Given the description of an element on the screen output the (x, y) to click on. 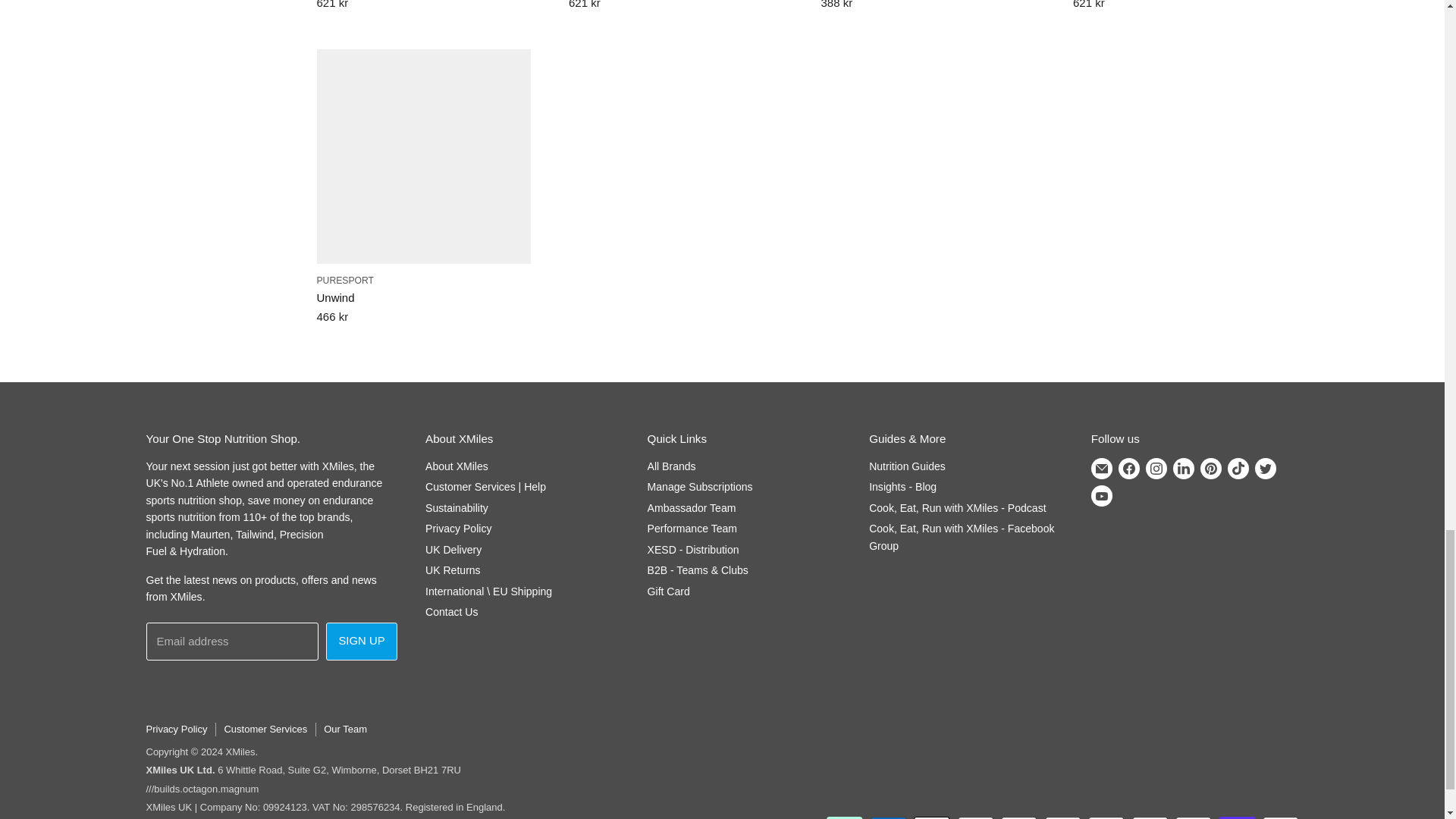
Pinterest (1210, 468)
Twitter (1265, 468)
E-mail (1101, 468)
TikTok (1238, 468)
LinkedIn (1183, 468)
Facebook (1128, 468)
Instagram (1156, 468)
